Given the description of an element on the screen output the (x, y) to click on. 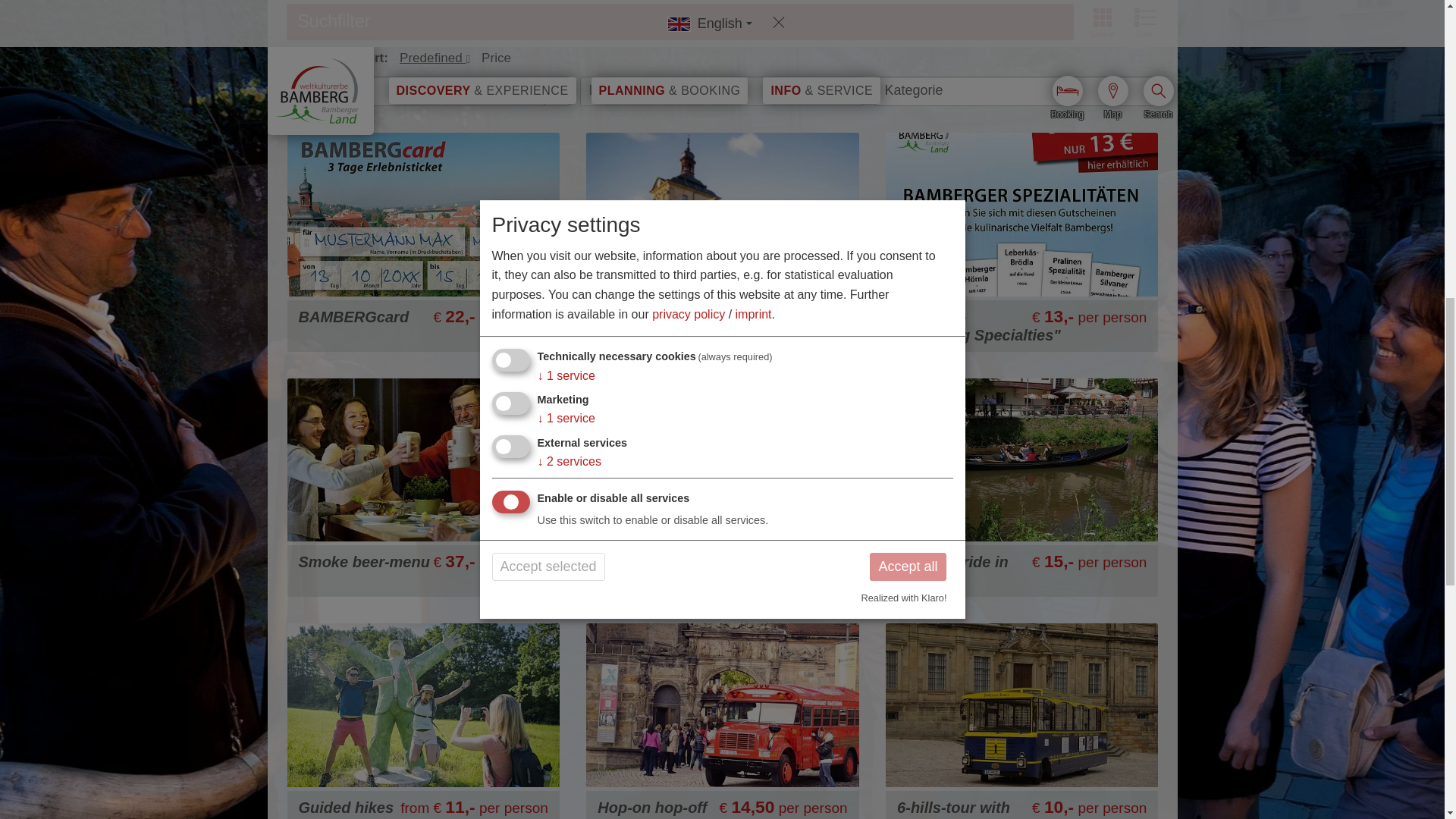
Kategorie (917, 90)
